Given the description of an element on the screen output the (x, y) to click on. 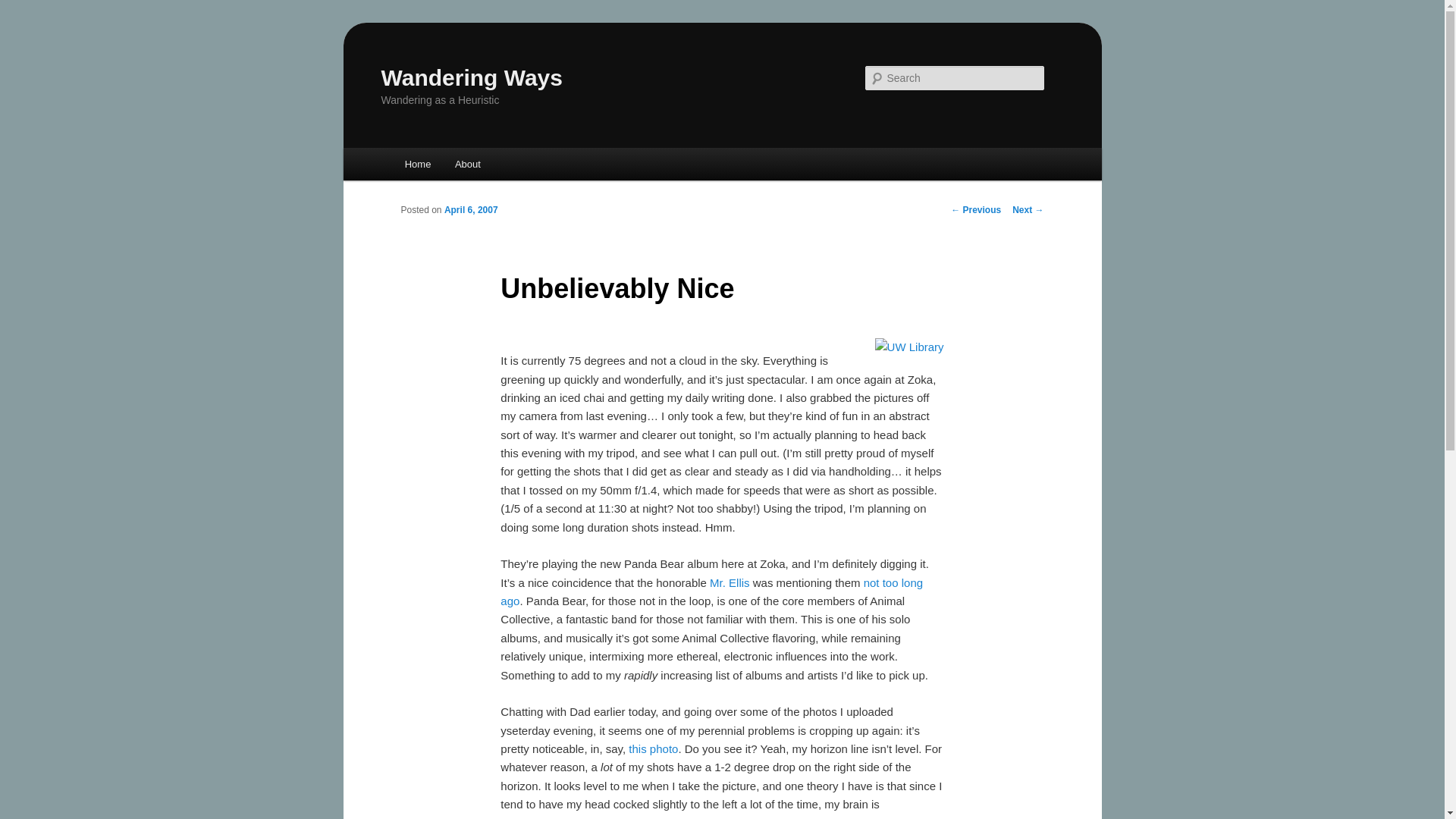
April 6, 2007 (470, 209)
Mr. Ellis (729, 582)
UW Library (909, 344)
Home (417, 164)
Wandering Ways (471, 77)
Wandering Ways (471, 77)
1:50:25 pm (470, 209)
Search (24, 8)
this photo (653, 748)
not too long ago (711, 591)
About (467, 164)
